Given the description of an element on the screen output the (x, y) to click on. 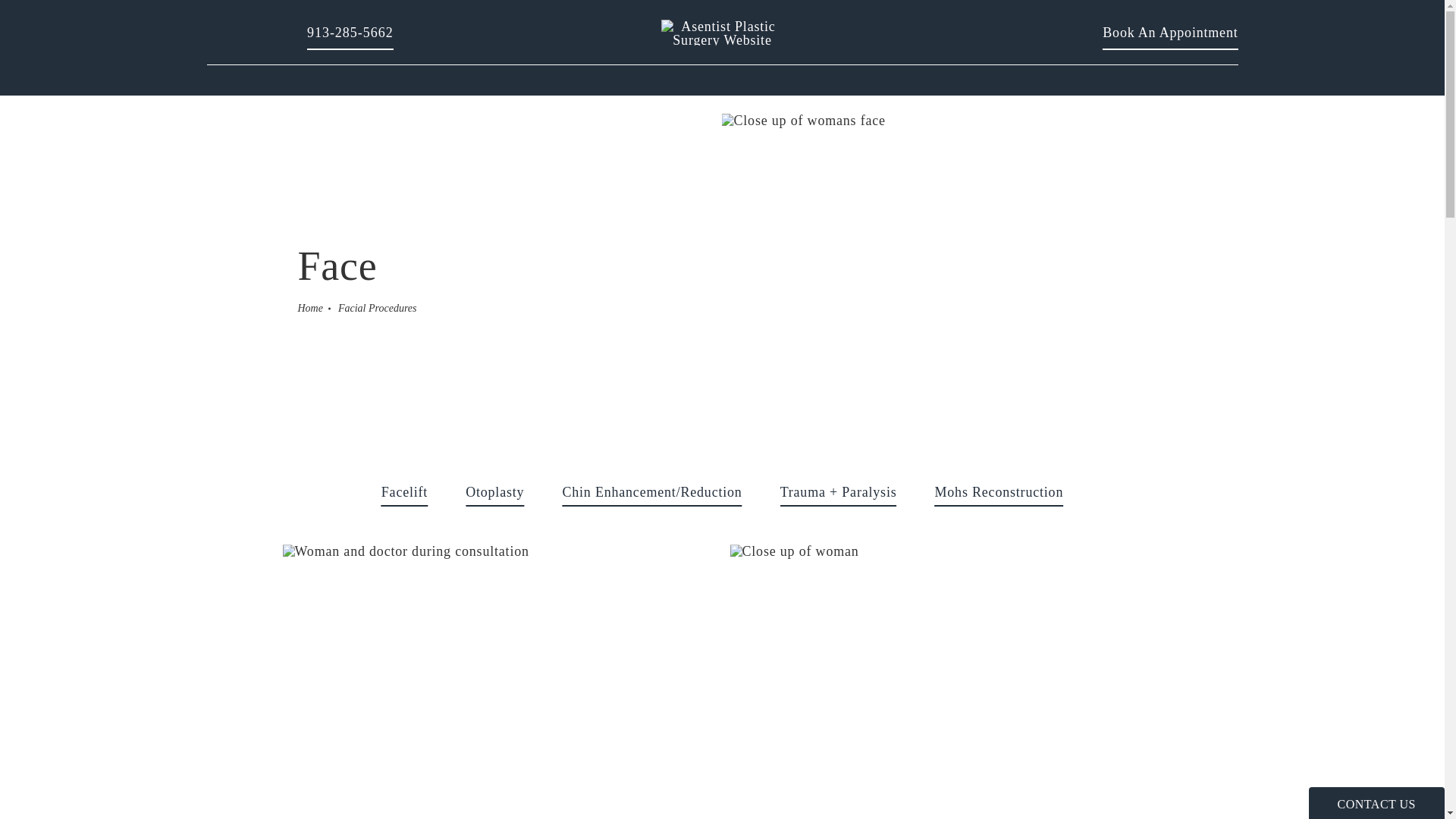
Opens Facelift page (350, 32)
Asentist Plastic Surgery on Instagram (404, 491)
Opens Otoplasty page (249, 34)
Opens Facelift page (945, 681)
Asentist Plastic Surgery on Tiktok (498, 681)
Asentist Plastic Surgery on Facebook (278, 34)
Book An Appointment (219, 34)
Opens Otoplasty page (1169, 32)
Opens Mohs Reconstruction page (494, 491)
